Given the description of an element on the screen output the (x, y) to click on. 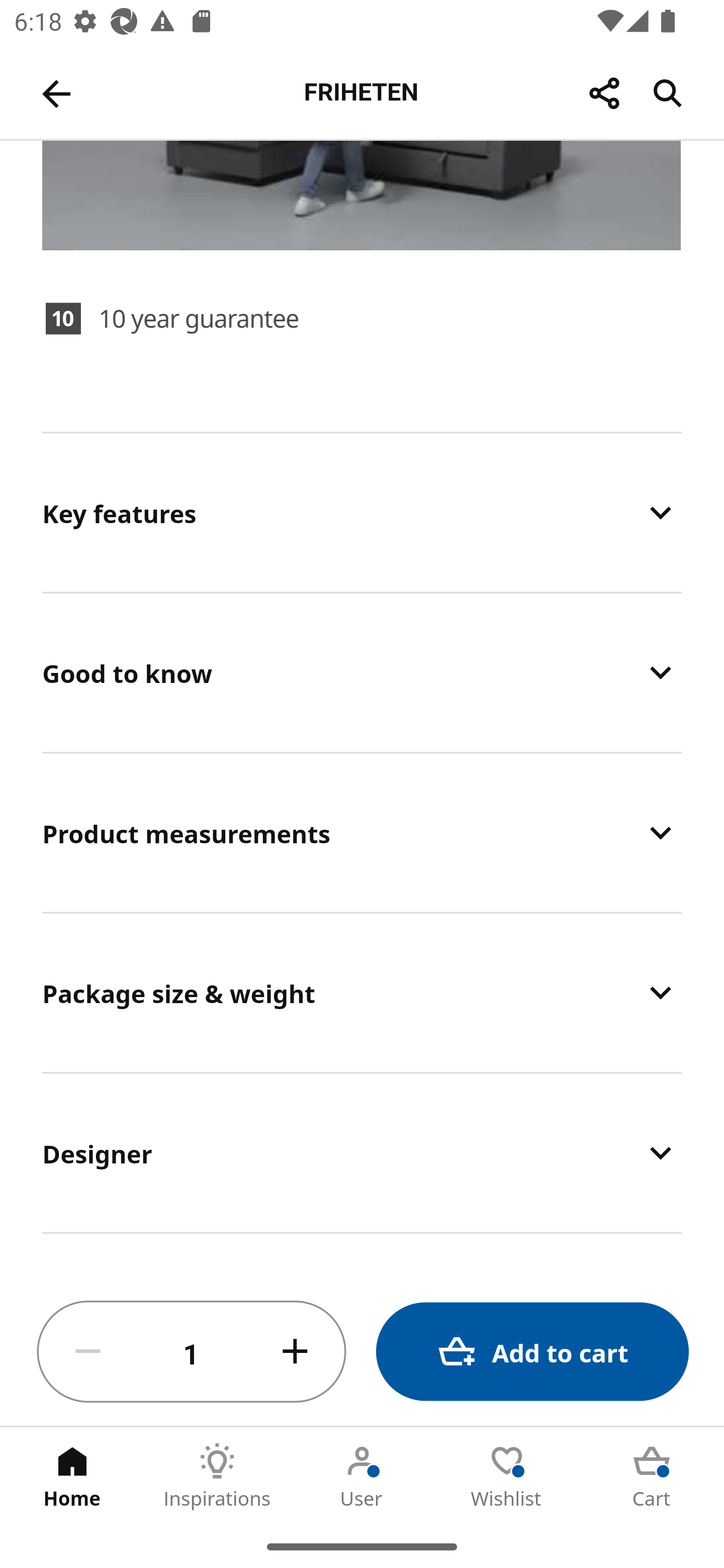
Play (362, 69)
Key features (361, 512)
Good to know (361, 671)
Product measurements (361, 832)
Package size & weight (361, 992)
Designer (361, 1152)
Add to cart (531, 1352)
1 (191, 1352)
Home
Tab 1 of 5 (72, 1476)
Inspirations
Tab 2 of 5 (216, 1476)
User
Tab 3 of 5 (361, 1476)
Wishlist
Tab 4 of 5 (506, 1476)
Cart
Tab 5 of 5 (651, 1476)
